Given the description of an element on the screen output the (x, y) to click on. 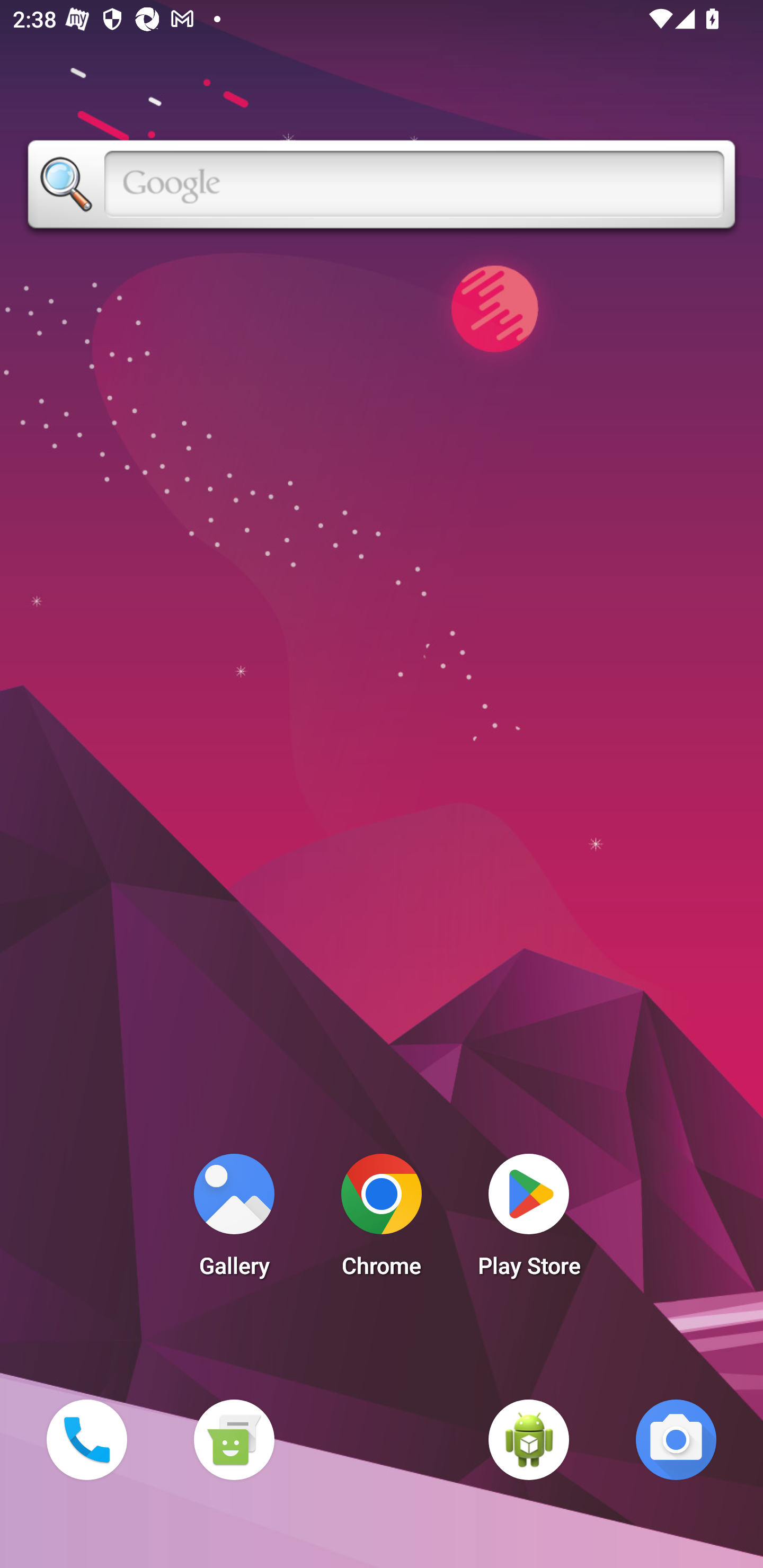
Gallery (233, 1220)
Chrome (381, 1220)
Play Store (528, 1220)
Phone (86, 1439)
Messaging (233, 1439)
WebView Browser Tester (528, 1439)
Camera (676, 1439)
